Given the description of an element on the screen output the (x, y) to click on. 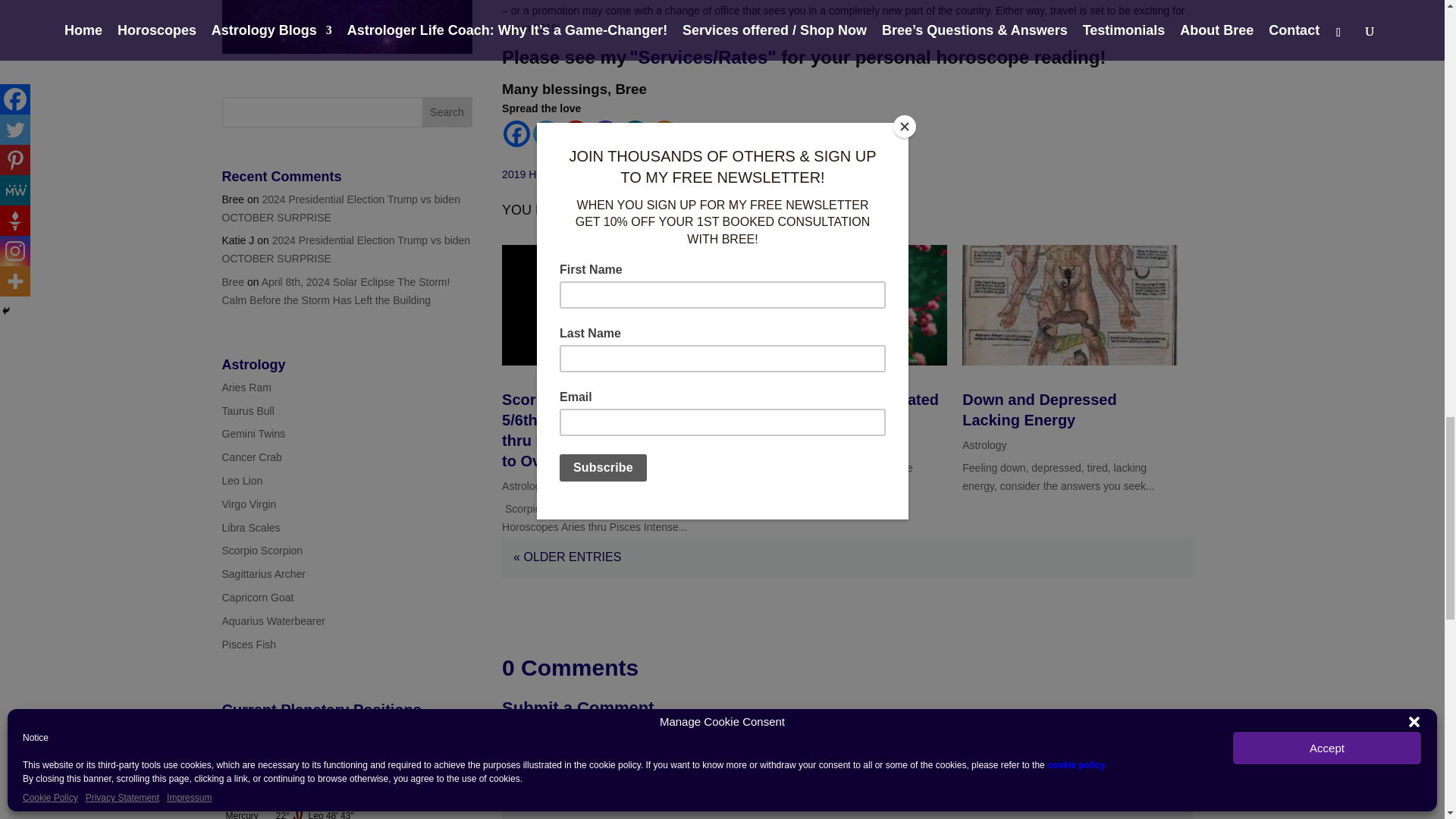
Facebook (516, 133)
MeWe (634, 133)
Gettr (575, 133)
Search (446, 112)
Instagram (605, 133)
More (664, 133)
Twitter (545, 133)
